Given the description of an element on the screen output the (x, y) to click on. 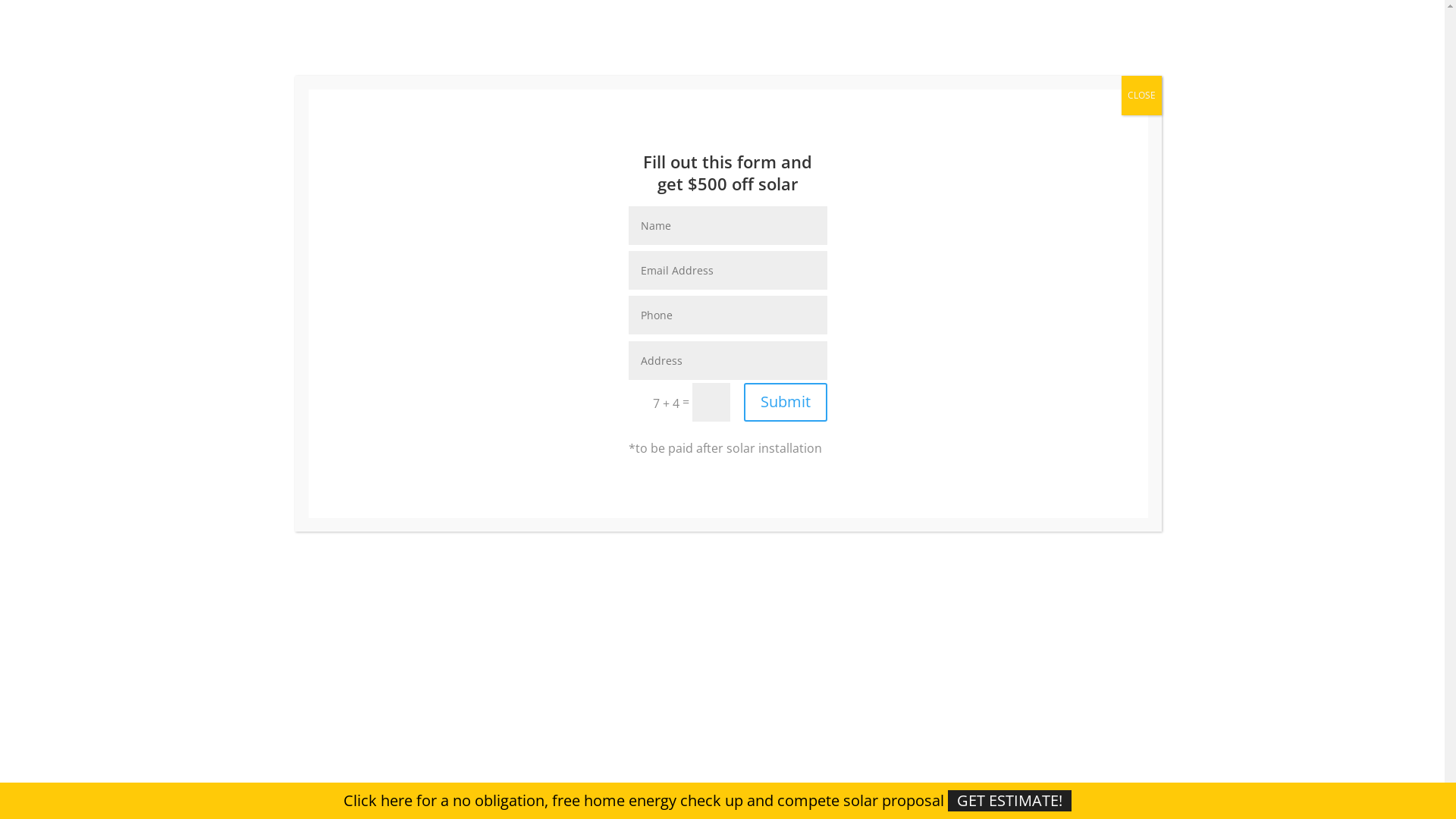
IMG_6927 Element type: hover (397, 531)
Product Specifications Element type: text (971, 73)
Home Element type: text (692, 73)
IMG_7060 Element type: hover (829, 531)
Stacked-Tesla-Powerwalls-2 Element type: hover (613, 698)
Contact Us Element type: text (1078, 73)
Only numbers allowed. Element type: hover (727, 314)
Back to All Projects Element type: text (417, 183)
CLOSE Element type: text (1140, 95)
Projects Element type: text (872, 73)
IMG_7360 Element type: hover (1045, 531)
About Us Element type: text (751, 73)
IMG_6907 Element type: hover (613, 365)
IMG_6909 Element type: hover (829, 365)
Gallery Element type: text (813, 73)
IMG_6915 Element type: hover (1045, 365)
Stacked-Tesla-Powerwalls-3 Element type: hover (829, 698)
image0 Element type: hover (397, 365)
Stacked-Tesla-Powerwalls-1 Element type: hover (397, 698)
Submit Element type: text (785, 401)
IMG_6943 Element type: hover (613, 531)
Stacked-Tesla-Powerwalls-4 Element type: hover (1045, 698)
